Given the description of an element on the screen output the (x, y) to click on. 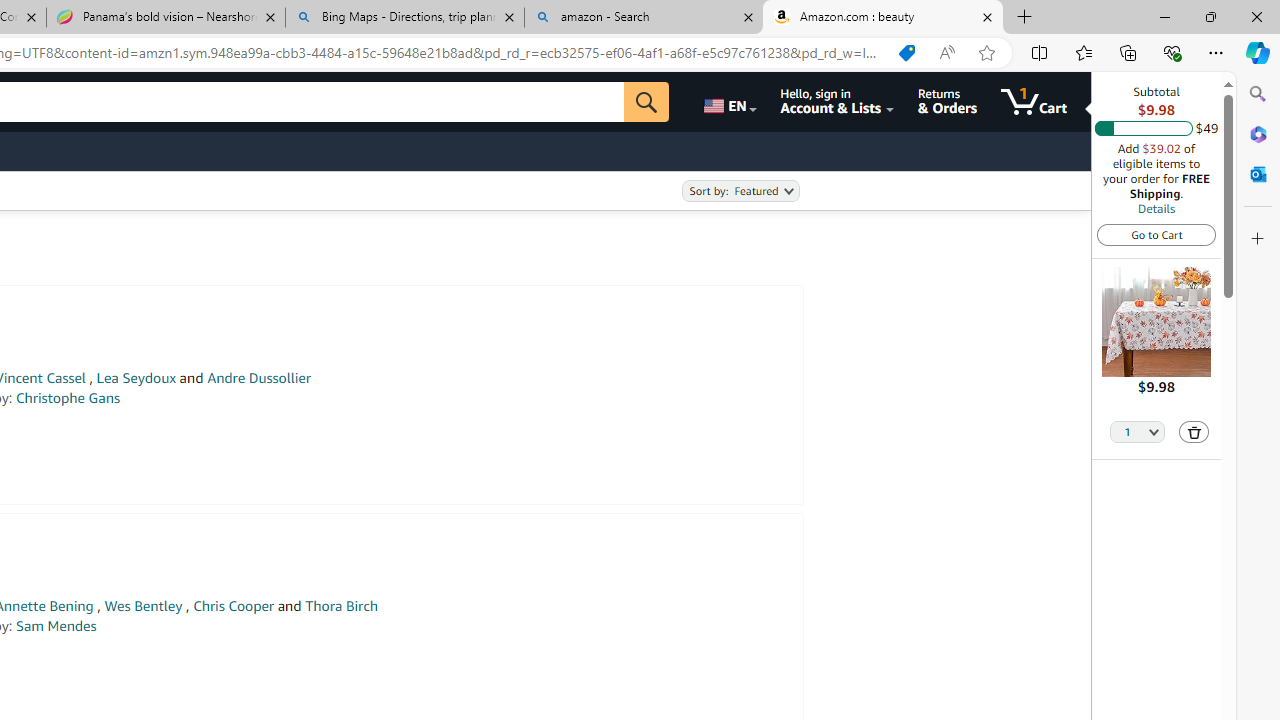
Amazon.com : beauty (883, 17)
amazon - Search (643, 17)
Go (646, 101)
Sam Mendes (56, 626)
Hello, sign in Account & Lists (836, 101)
Quantity Selector (1137, 430)
